Given the description of an element on the screen output the (x, y) to click on. 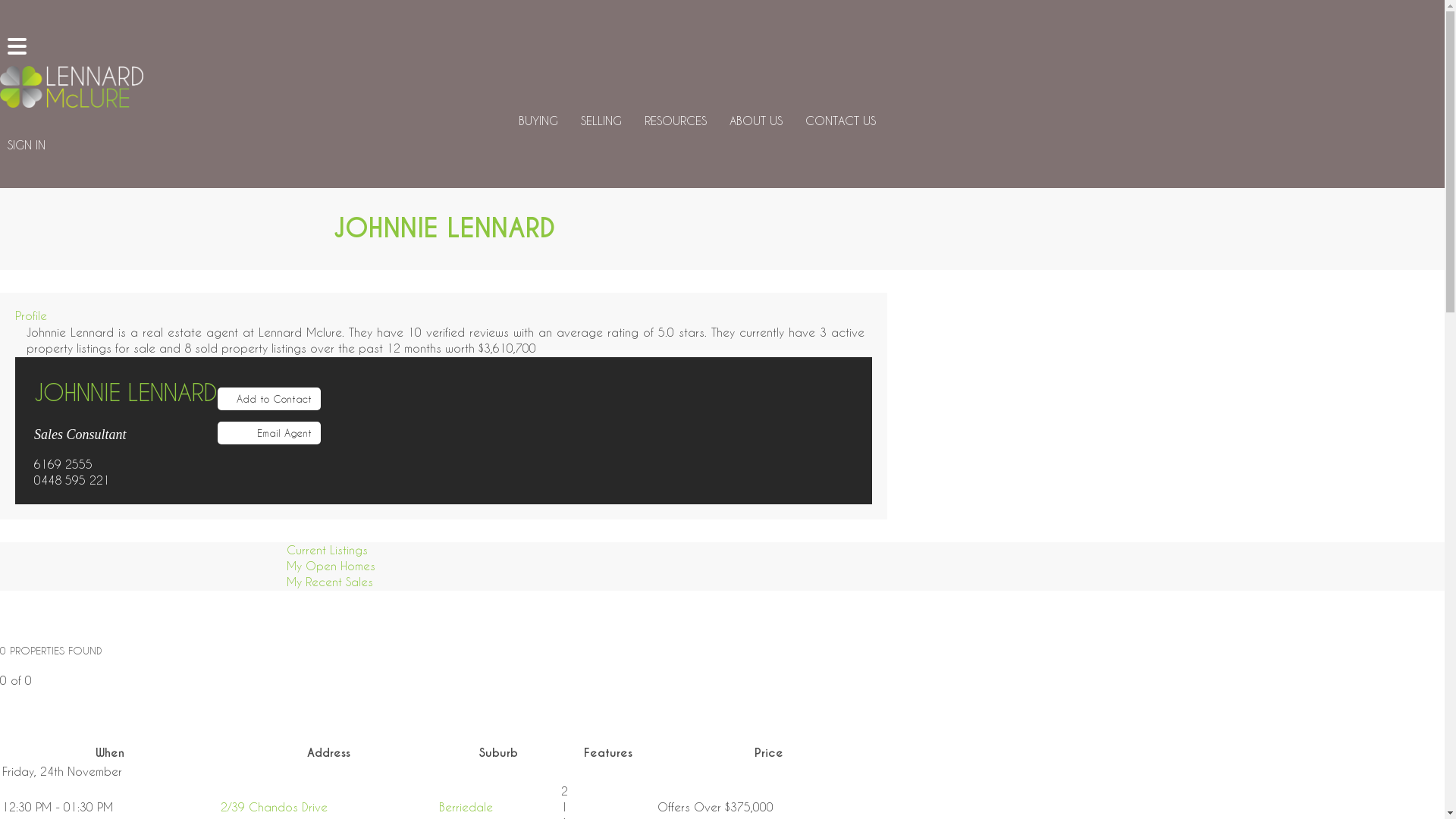
My Open Homes Element type: text (327, 565)
RESOURCES Element type: text (675, 120)
BUYING Element type: text (538, 120)
Add to Contact Element type: text (268, 397)
ABOUT US Element type: text (755, 120)
Current Listings Element type: text (323, 549)
Profile Element type: text (31, 315)
0448 595 221 Element type: text (71, 479)
Berriedale Element type: text (465, 806)
SELLING Element type: text (601, 120)
6169 2555 Element type: text (63, 463)
My Recent Sales Element type: text (326, 581)
SIGN IN Element type: text (26, 144)
CONTACT US Element type: text (840, 120)
Email Agent Element type: text (268, 432)
2/39 Chandos Drive Element type: text (273, 806)
